Given the description of an element on the screen output the (x, y) to click on. 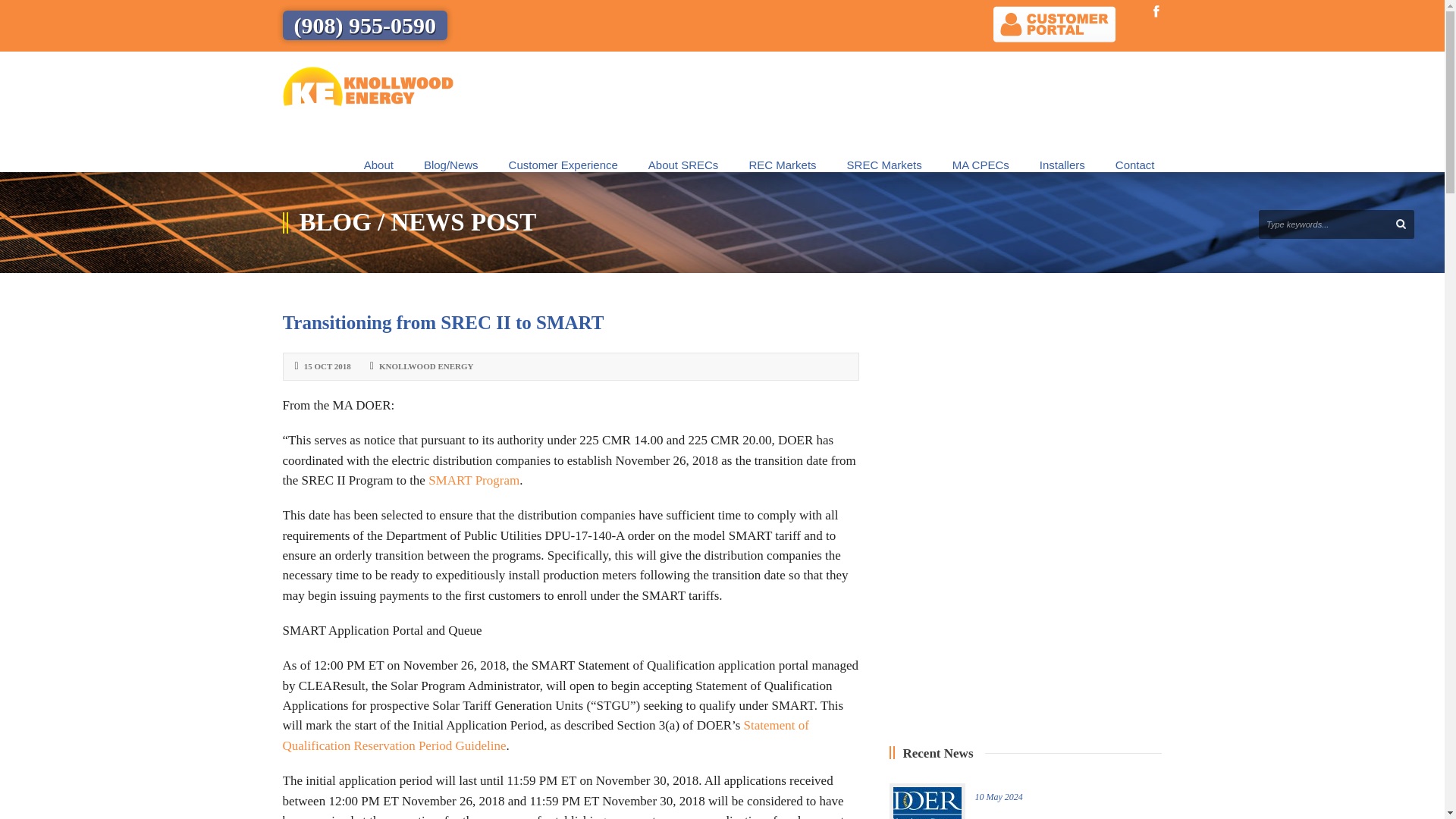
SMART Program (473, 480)
Posts by Knollwood Energy (426, 366)
Type keywords... (1336, 224)
KNOLLWOOD ENERGY (426, 366)
15 OCT 2018 (327, 366)
Transitioning from SREC II to SMART (443, 322)
Statement of Qualification Reservation Period Guideline (545, 735)
